Given the description of an element on the screen output the (x, y) to click on. 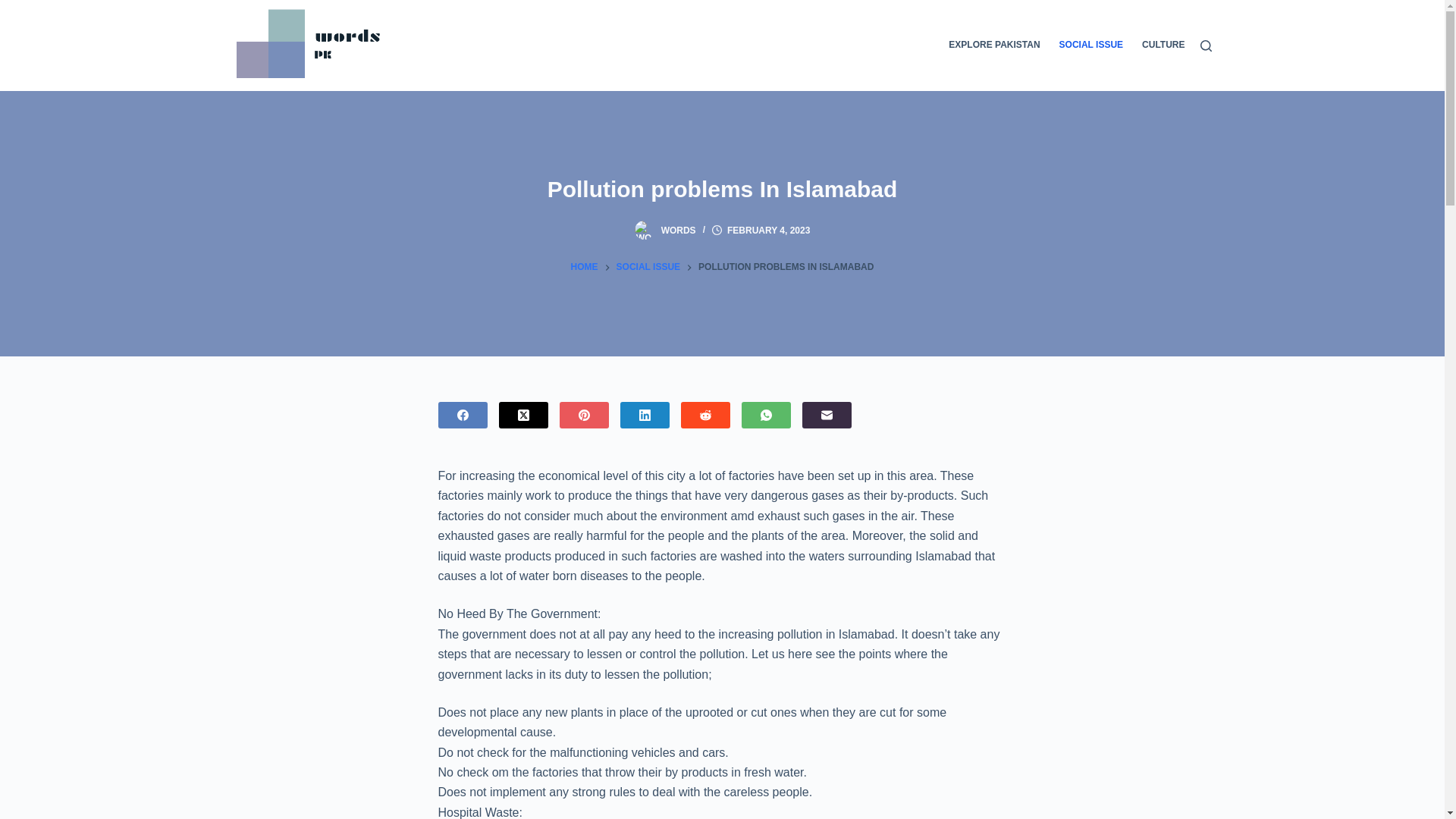
HOME (584, 267)
SOCIAL ISSUE (647, 267)
Skip to content (15, 7)
WORDS (678, 230)
SOCIAL ISSUE (1090, 45)
Pollution problems In Islamabad (722, 188)
EXPLORE PAKISTAN (999, 45)
CULTURE (1158, 45)
Posts by Words (678, 230)
